Given the description of an element on the screen output the (x, y) to click on. 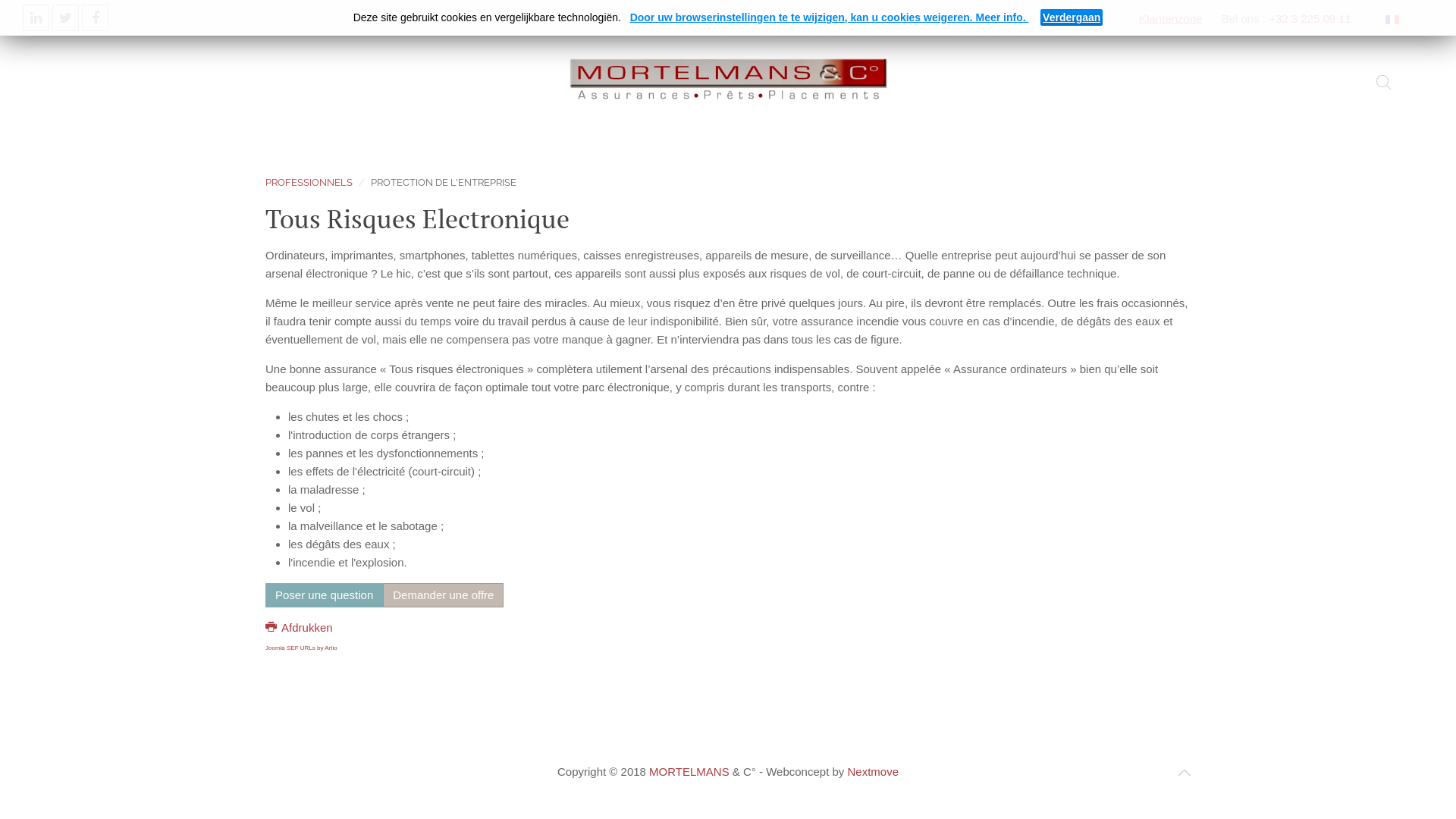
+32 3 225 09 11 Element type: text (1309, 18)
MORTELMANS Element type: text (689, 771)
PROFESSIONNELS Element type: text (308, 182)
Demander une offre Element type: text (442, 595)
Poser une question Element type: text (323, 595)
Afdrukken Element type: text (298, 627)
  Element type: text (504, 593)
Demander une offre Element type: text (442, 593)
Poser une question Element type: text (323, 593)
Joomla SEF URLs by Artio Element type: text (301, 647)
Nextmove Element type: text (872, 771)
Klantenzone Element type: text (1170, 18)
